Given the description of an element on the screen output the (x, y) to click on. 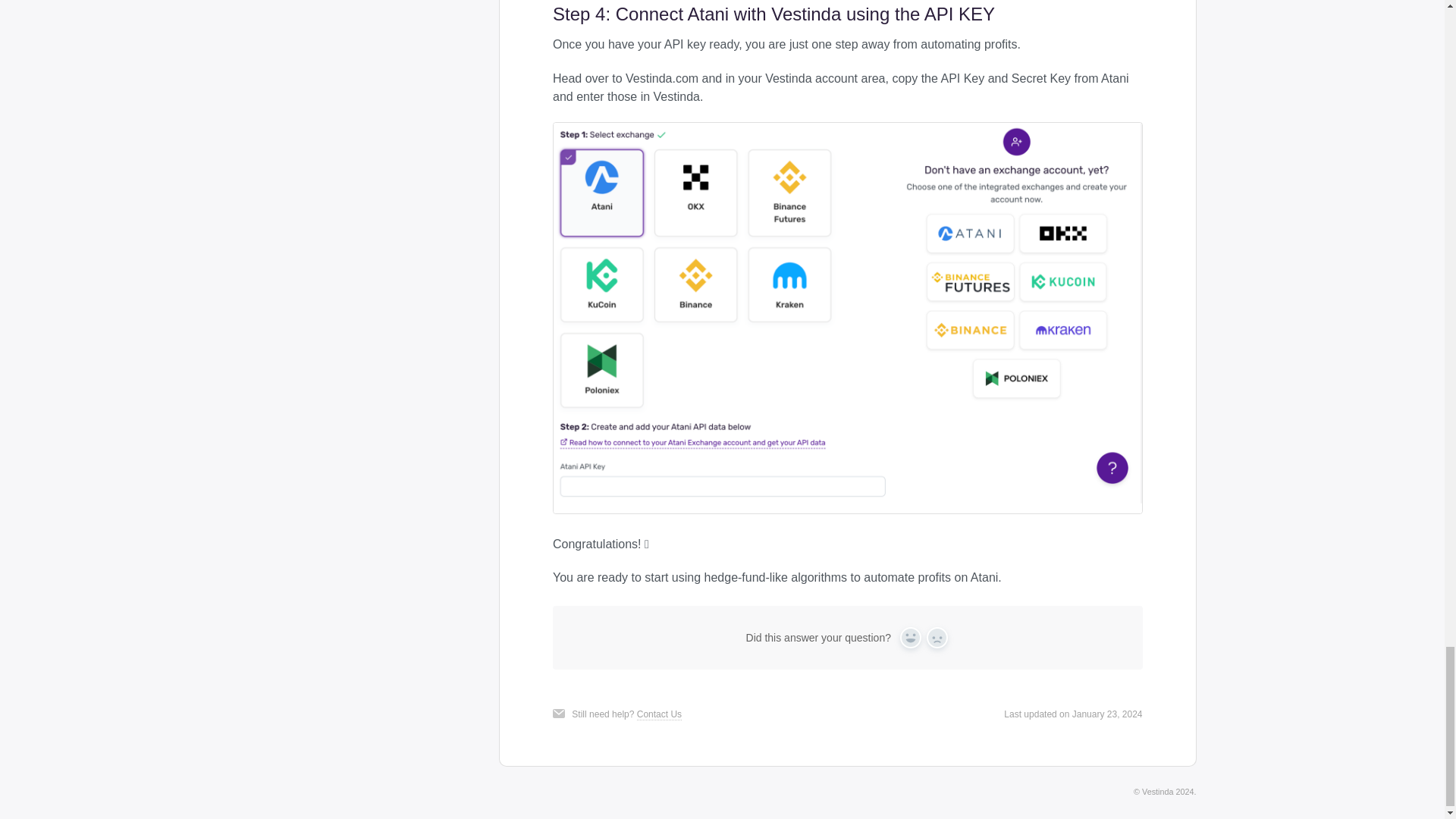
No (936, 637)
Contact Us (659, 714)
Vestinda (1157, 791)
Yes (910, 637)
